Given the description of an element on the screen output the (x, y) to click on. 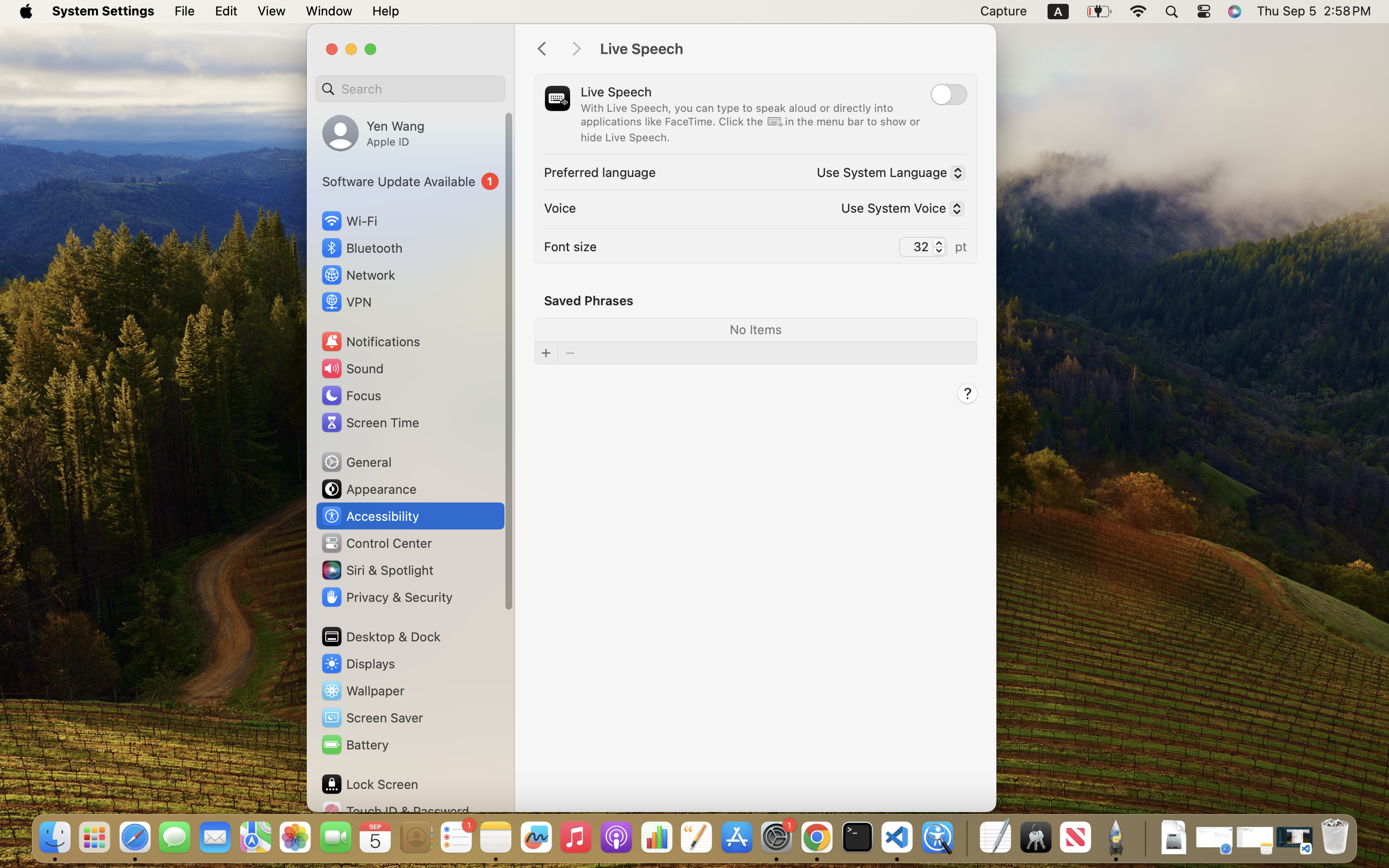
VPN Element type: AXStaticText (345, 301)
Battery Element type: AXStaticText (354, 744)
Wi‑Fi Element type: AXStaticText (348, 220)
With Live Speech, you can type to speak aloud or directly into applications like FaceTime. Click the icon in the menu bar to show or hide Live Speech. Element type: AXStaticText (750, 122)
Preferred language Element type: AXStaticText (599, 171)
